Given the description of an element on the screen output the (x, y) to click on. 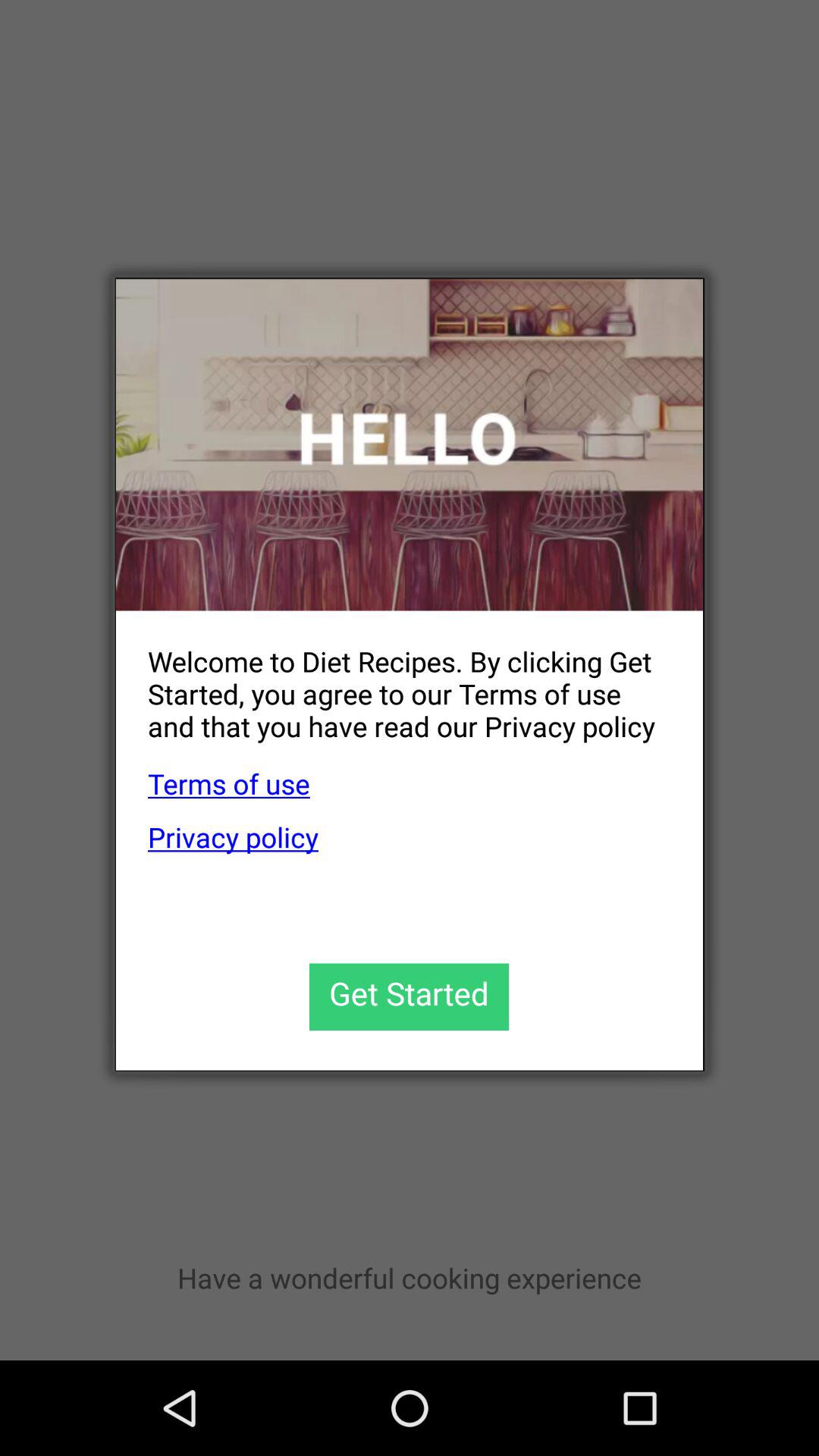
jump to the welcome to diet (393, 681)
